Given the description of an element on the screen output the (x, y) to click on. 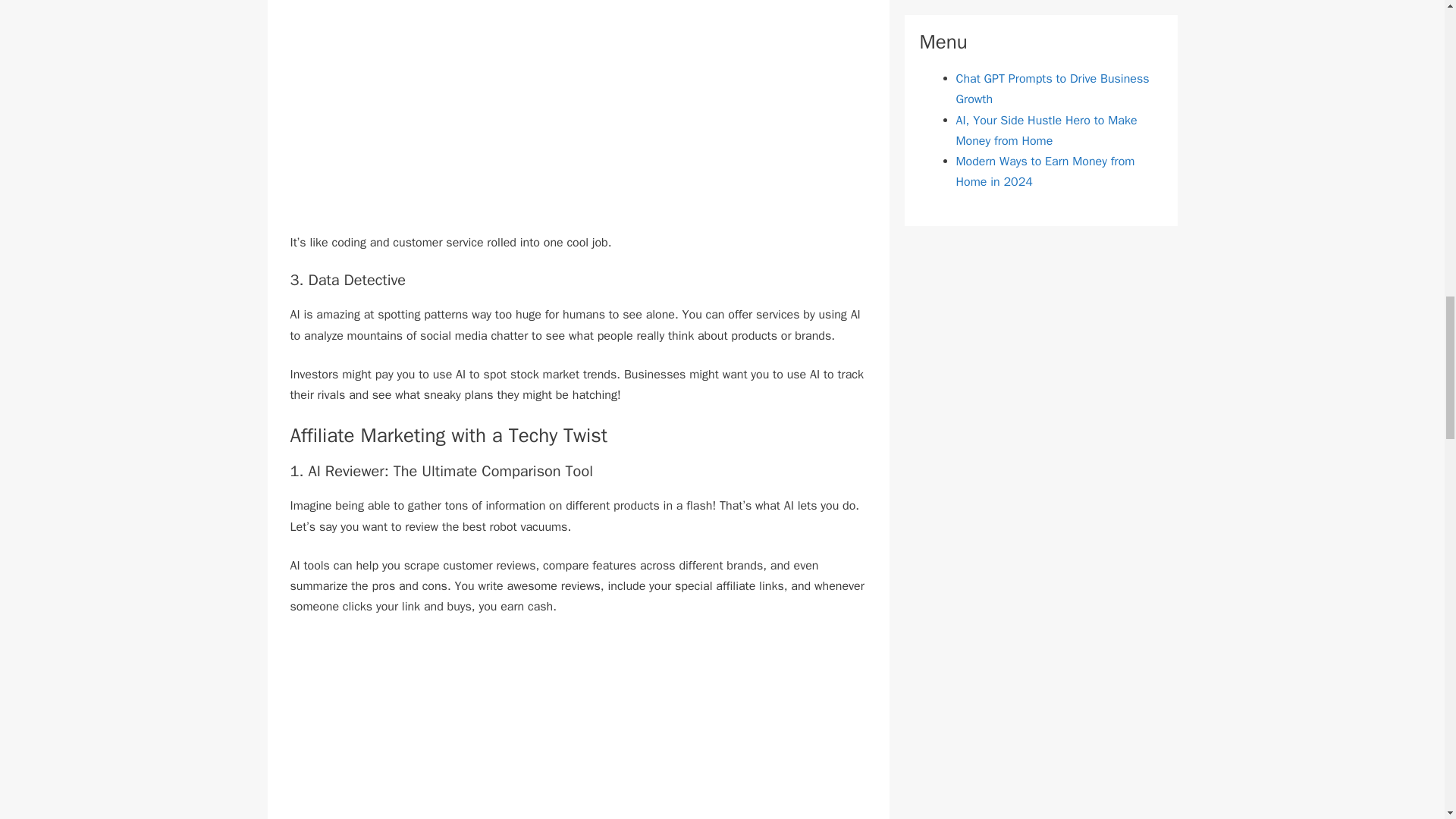
Advertisement (577, 727)
Advertisement (577, 126)
